Given the description of an element on the screen output the (x, y) to click on. 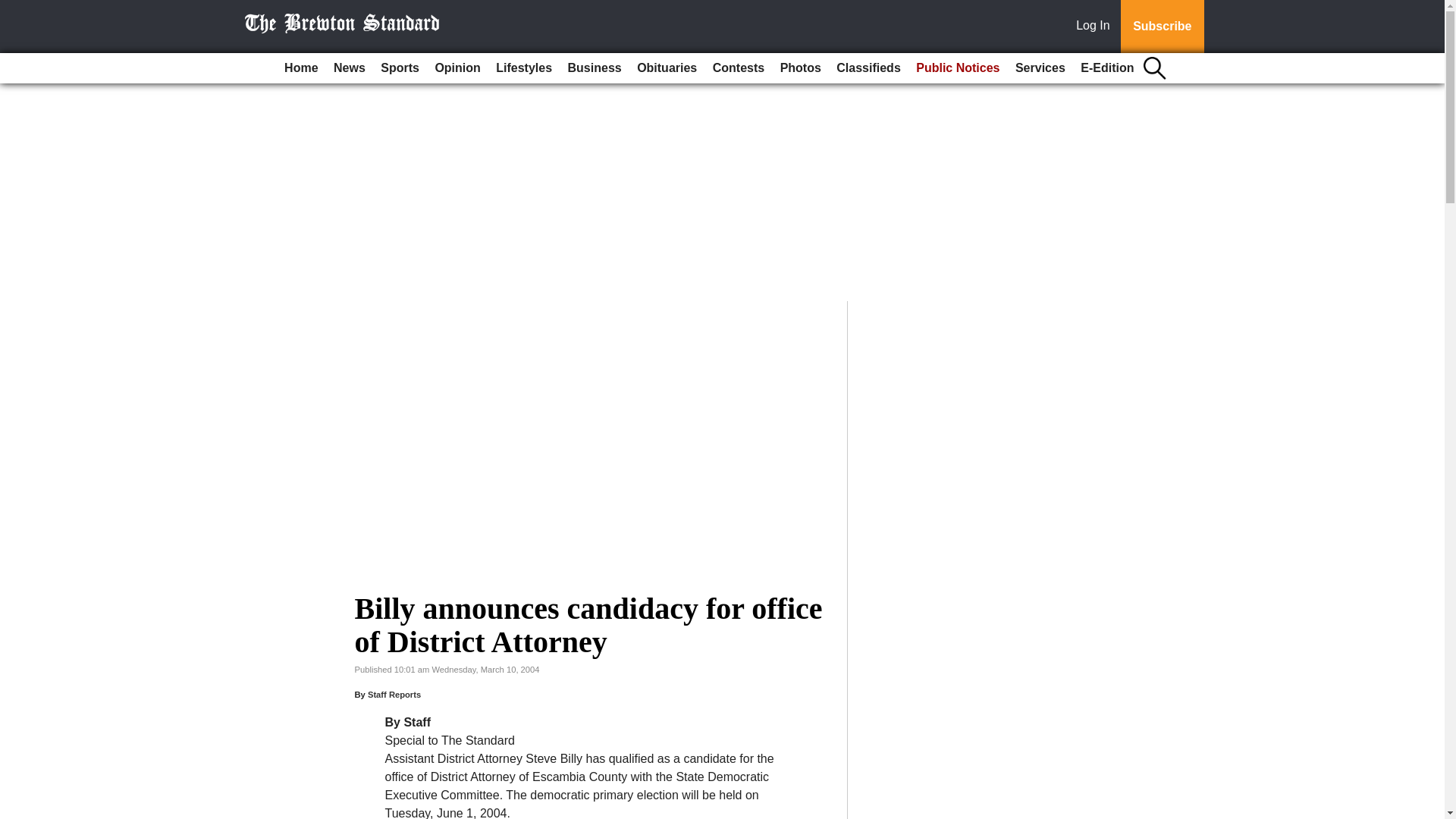
Go (13, 9)
Subscribe (1162, 26)
News (349, 68)
Opinion (457, 68)
E-Edition (1107, 68)
Home (300, 68)
Contests (738, 68)
Classifieds (867, 68)
Log In (1095, 26)
Services (1040, 68)
Public Notices (958, 68)
Staff Reports (394, 694)
Obituaries (666, 68)
Business (594, 68)
Sports (399, 68)
